Given the description of an element on the screen output the (x, y) to click on. 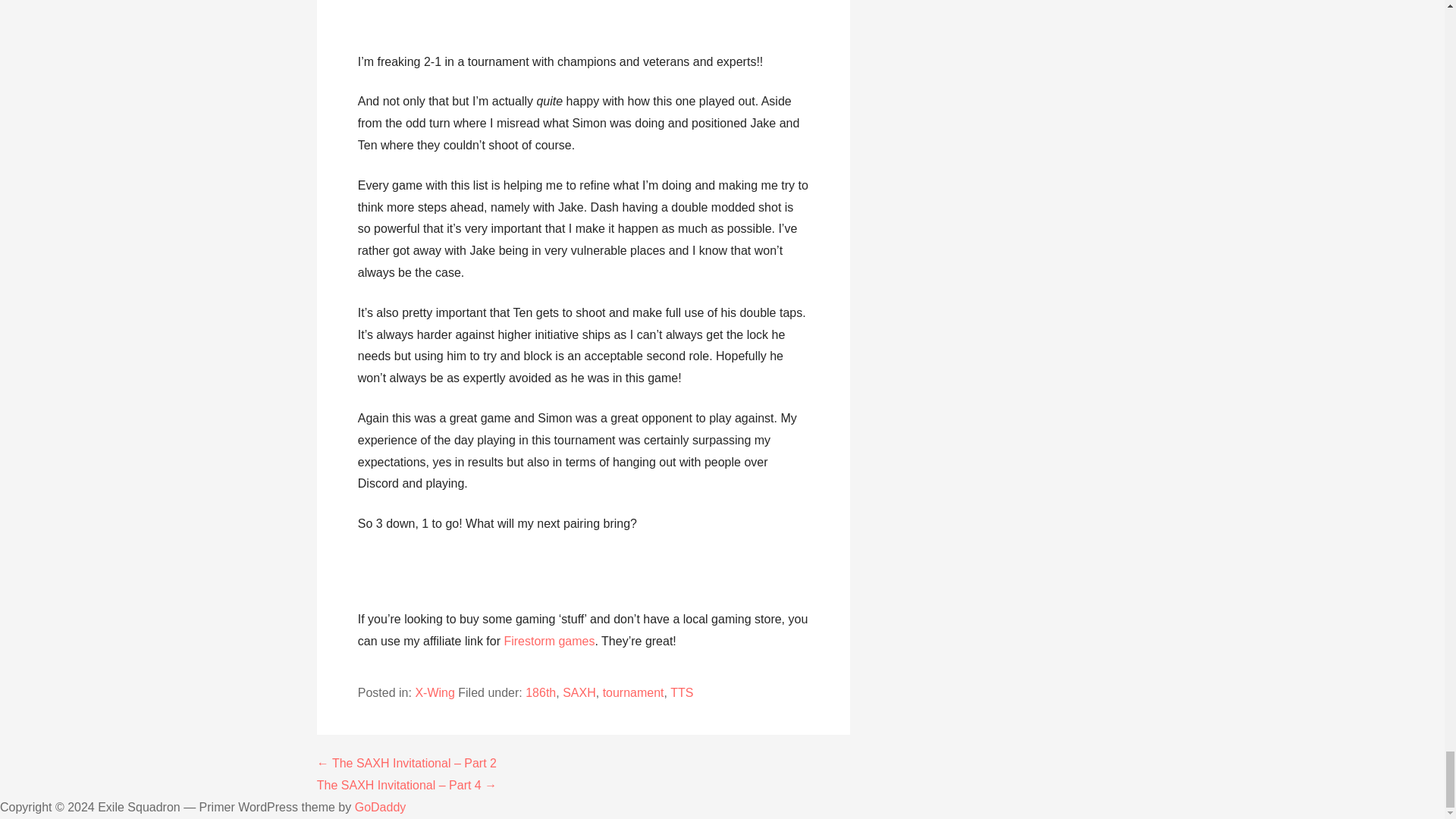
X-Wing (434, 692)
TTS (681, 692)
186th (540, 692)
tournament (632, 692)
SAXH (578, 692)
Firestorm games (548, 640)
